Given the description of an element on the screen output the (x, y) to click on. 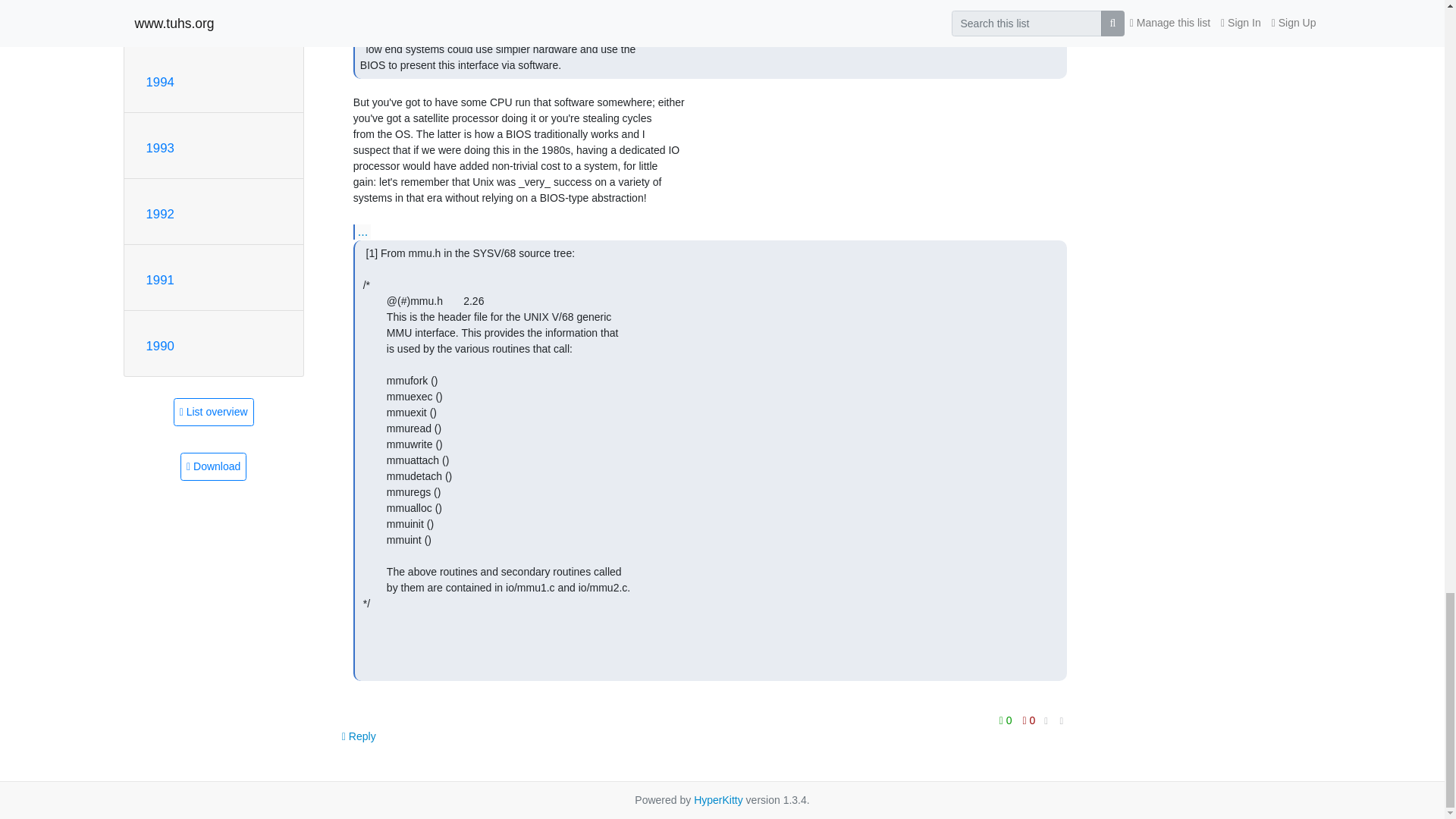
This message in gzipped mbox format (213, 466)
Sign in to reply online (359, 736)
You must be logged-in to vote. (1029, 720)
You must be logged-in to vote. (1007, 720)
